Given the description of an element on the screen output the (x, y) to click on. 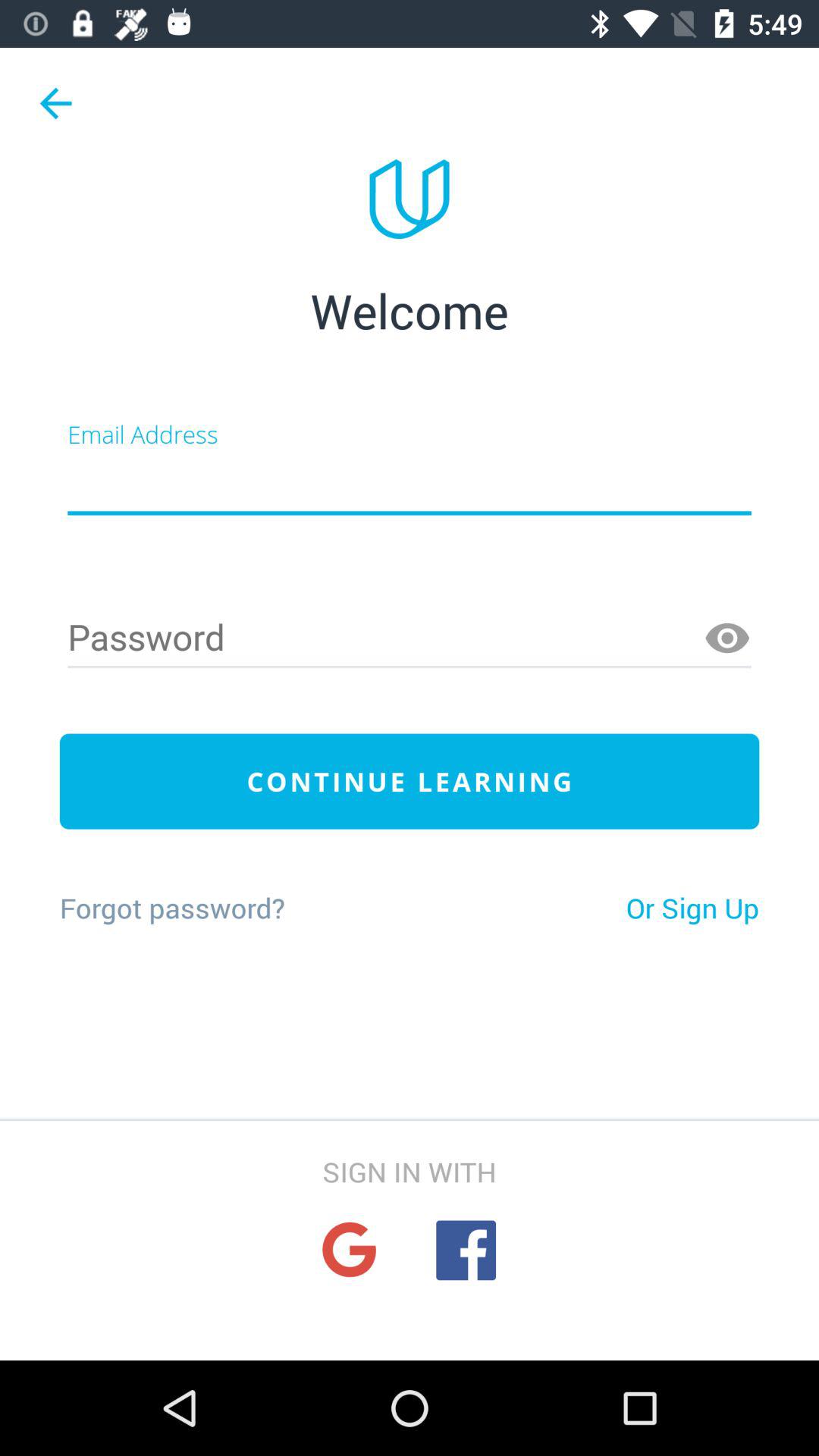
enter password (409, 638)
